Given the description of an element on the screen output the (x, y) to click on. 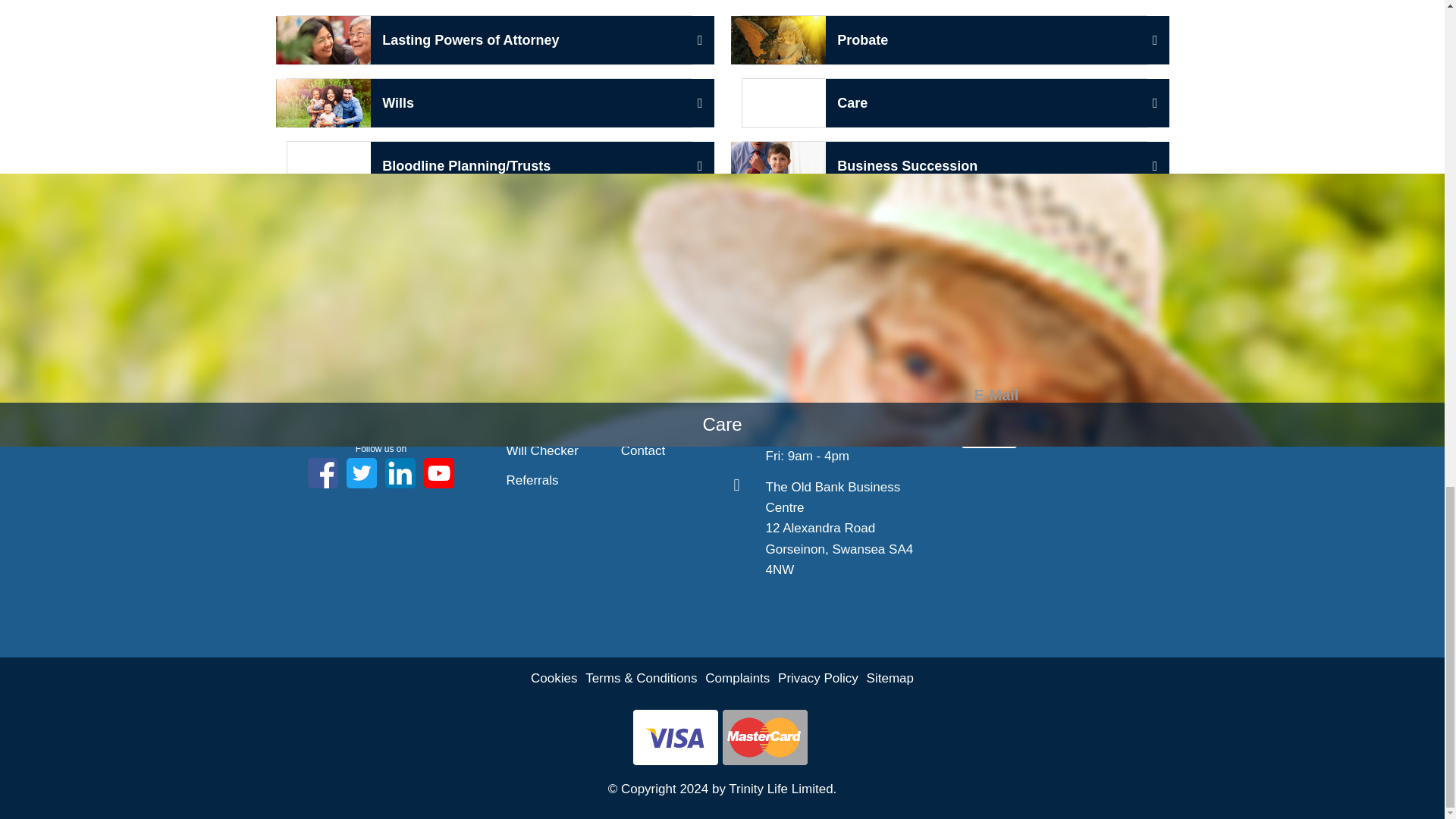
Care (381, 374)
About (944, 102)
LinkedIn (523, 390)
Home (399, 472)
Lasting Powers of Attorney (523, 361)
Services (489, 40)
Twitter (531, 421)
Business Succession (361, 472)
Wills (944, 165)
